Given the description of an element on the screen output the (x, y) to click on. 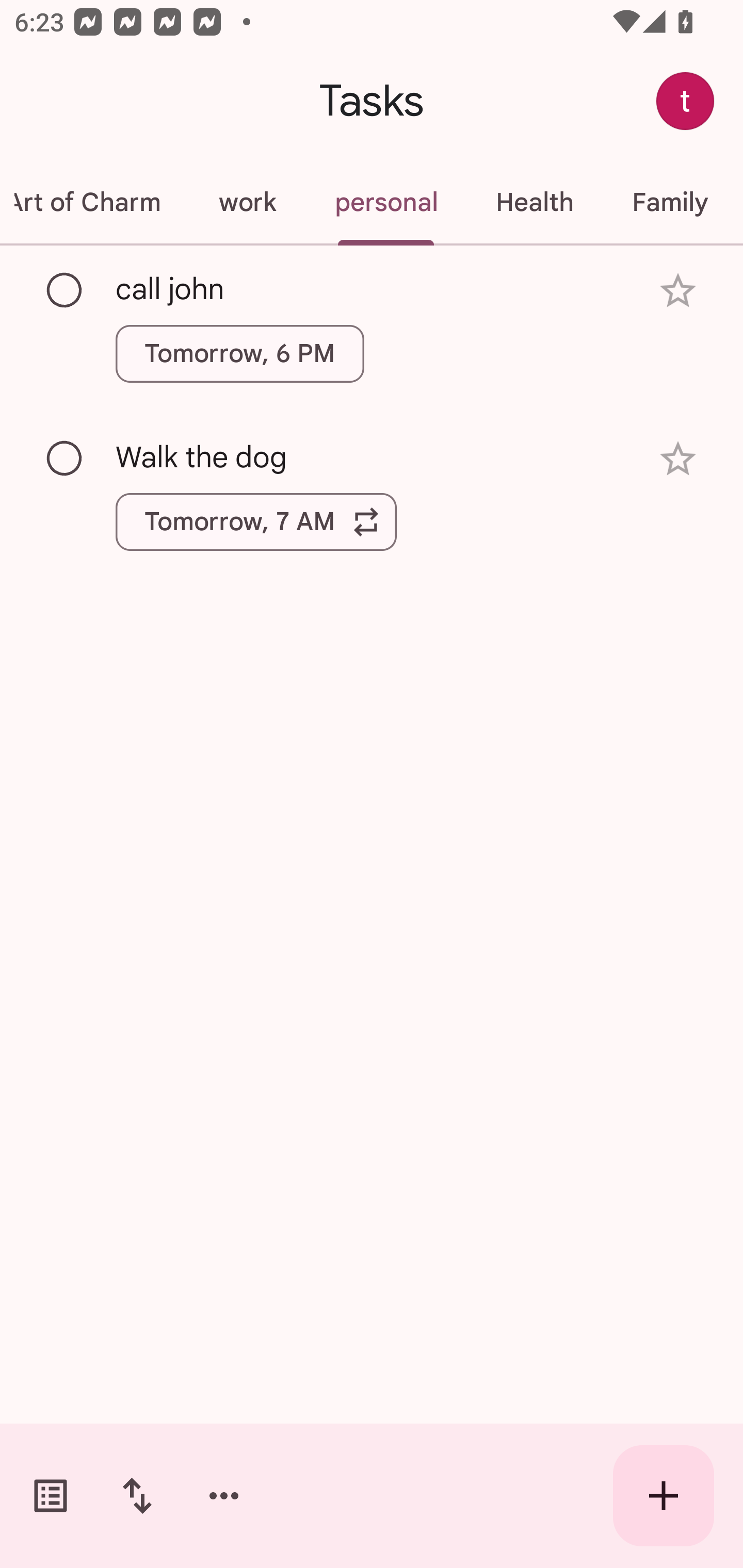
The Art of Charm (94, 202)
work (247, 202)
Health (534, 202)
Family (669, 202)
Add star (677, 290)
Mark as complete (64, 290)
Tomorrow, 6 PM (239, 353)
Add star (677, 458)
Mark as complete (64, 459)
Tomorrow, 7 AM (255, 522)
Switch task lists (50, 1495)
Create new task (663, 1495)
Change sort order (136, 1495)
More options (223, 1495)
